Given the description of an element on the screen output the (x, y) to click on. 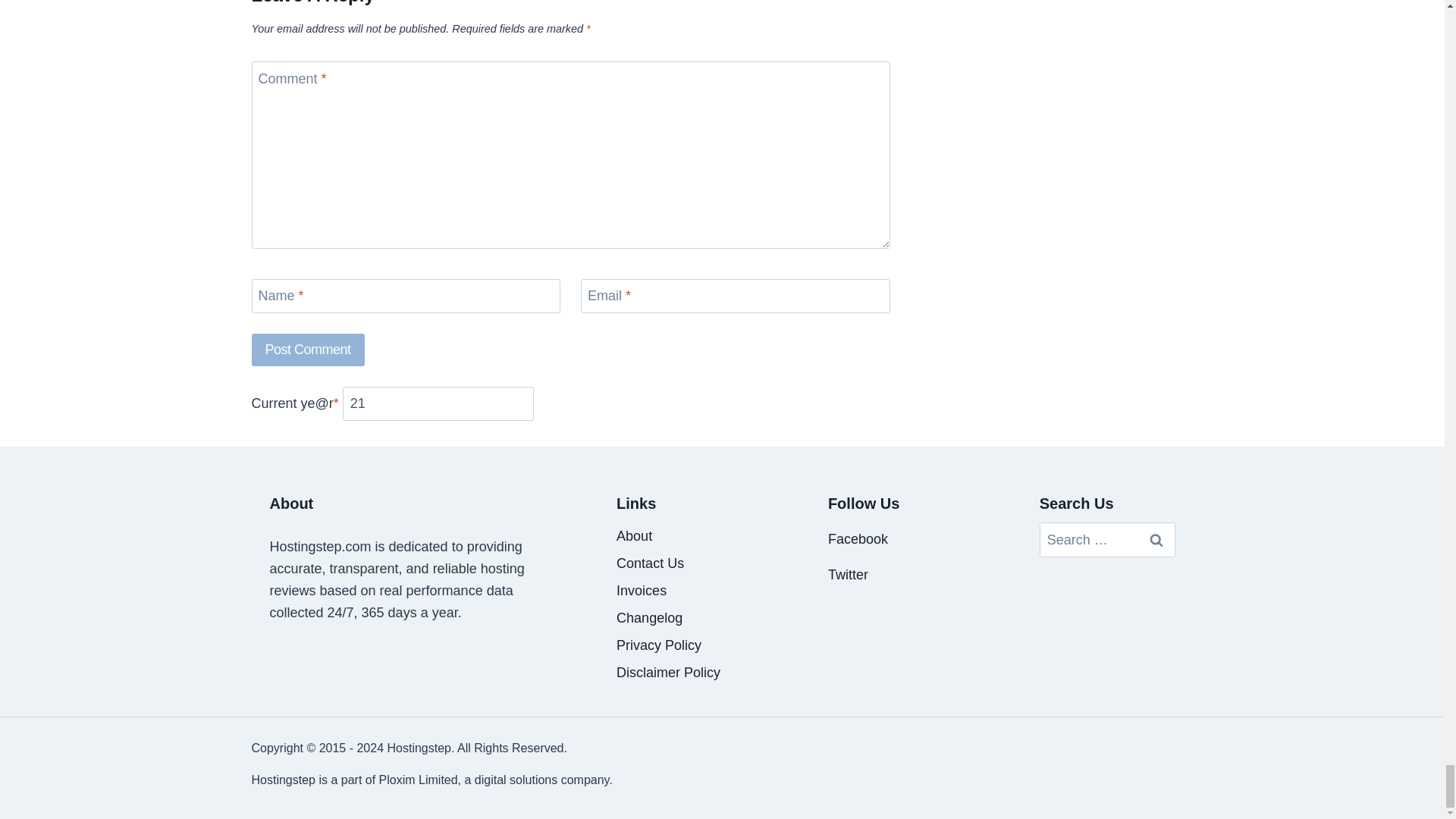
Search (1155, 539)
21 (438, 403)
Invoices (683, 590)
Disclaimer Policy (683, 672)
Post Comment (308, 349)
About (683, 535)
Search (1155, 539)
Facebook (858, 539)
Privacy Policy (683, 645)
Contact Us (683, 563)
